Given the description of an element on the screen output the (x, y) to click on. 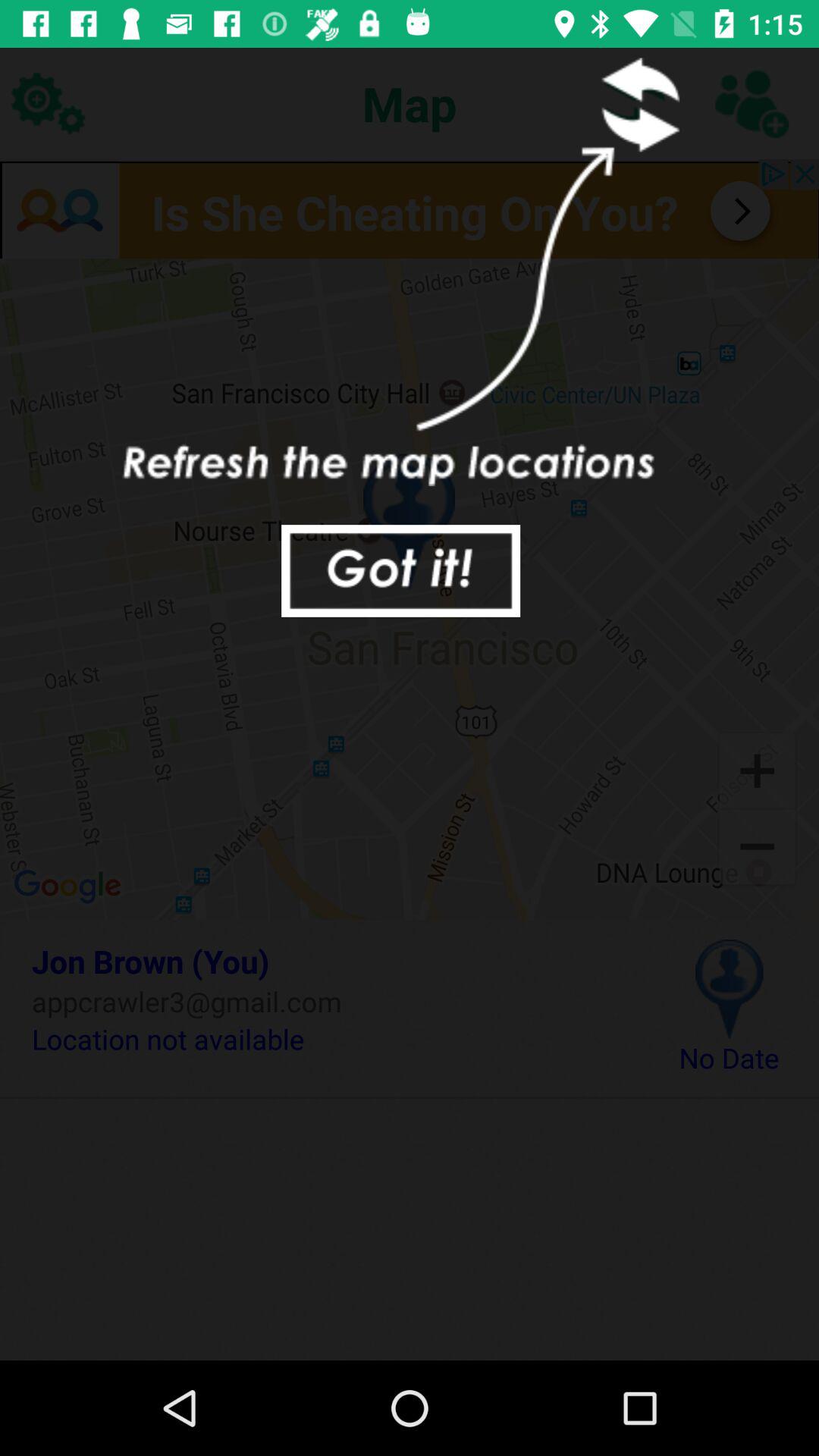
refresh this lcoation (635, 103)
